Given the description of an element on the screen output the (x, y) to click on. 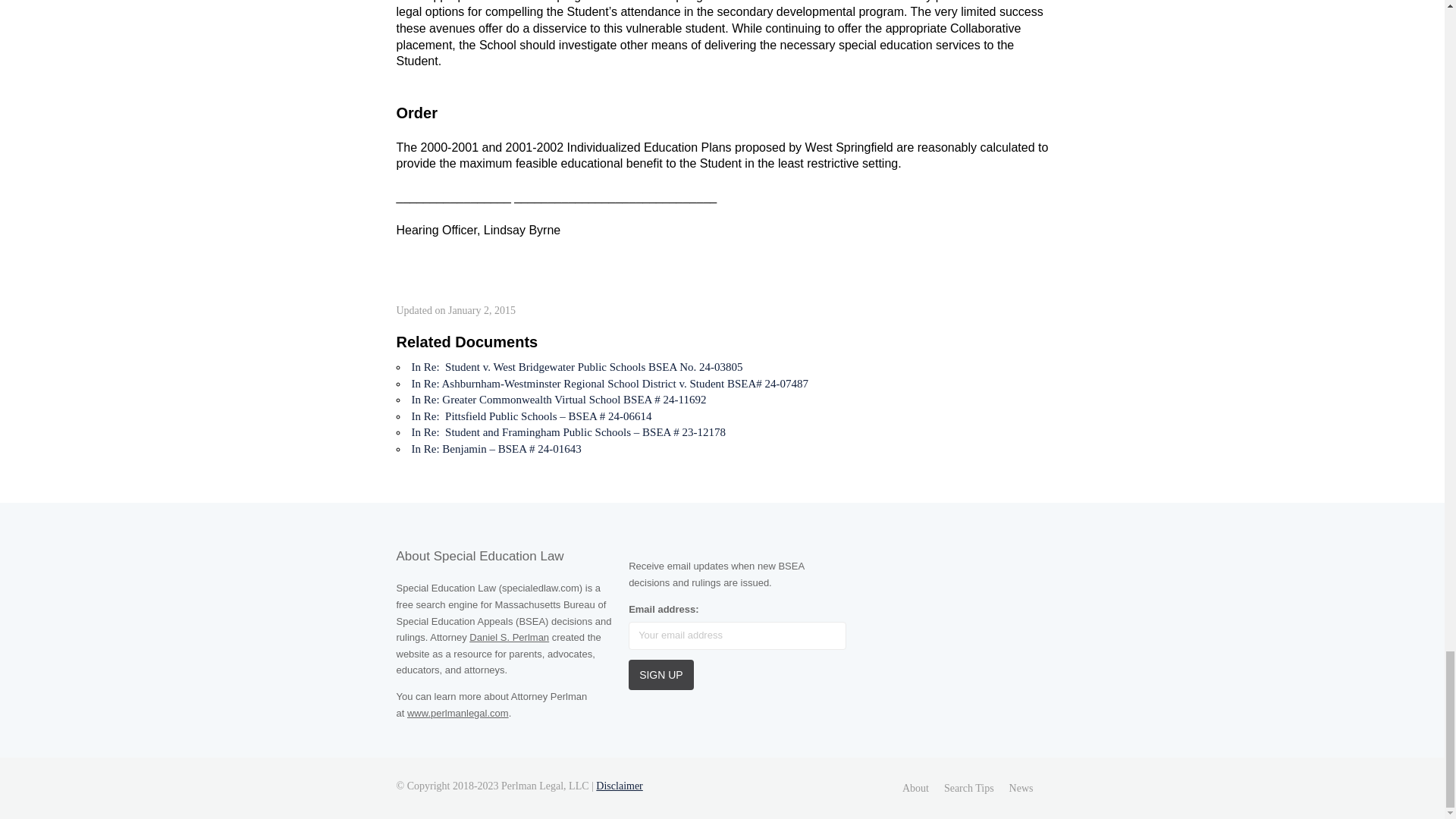
About (915, 787)
Disclaimer (618, 785)
www.perlmanlegal.com (457, 713)
Sign up (661, 675)
Sign up (661, 675)
Daniel S. Perlman (508, 636)
News (1021, 787)
Search Tips (968, 787)
